Given the description of an element on the screen output the (x, y) to click on. 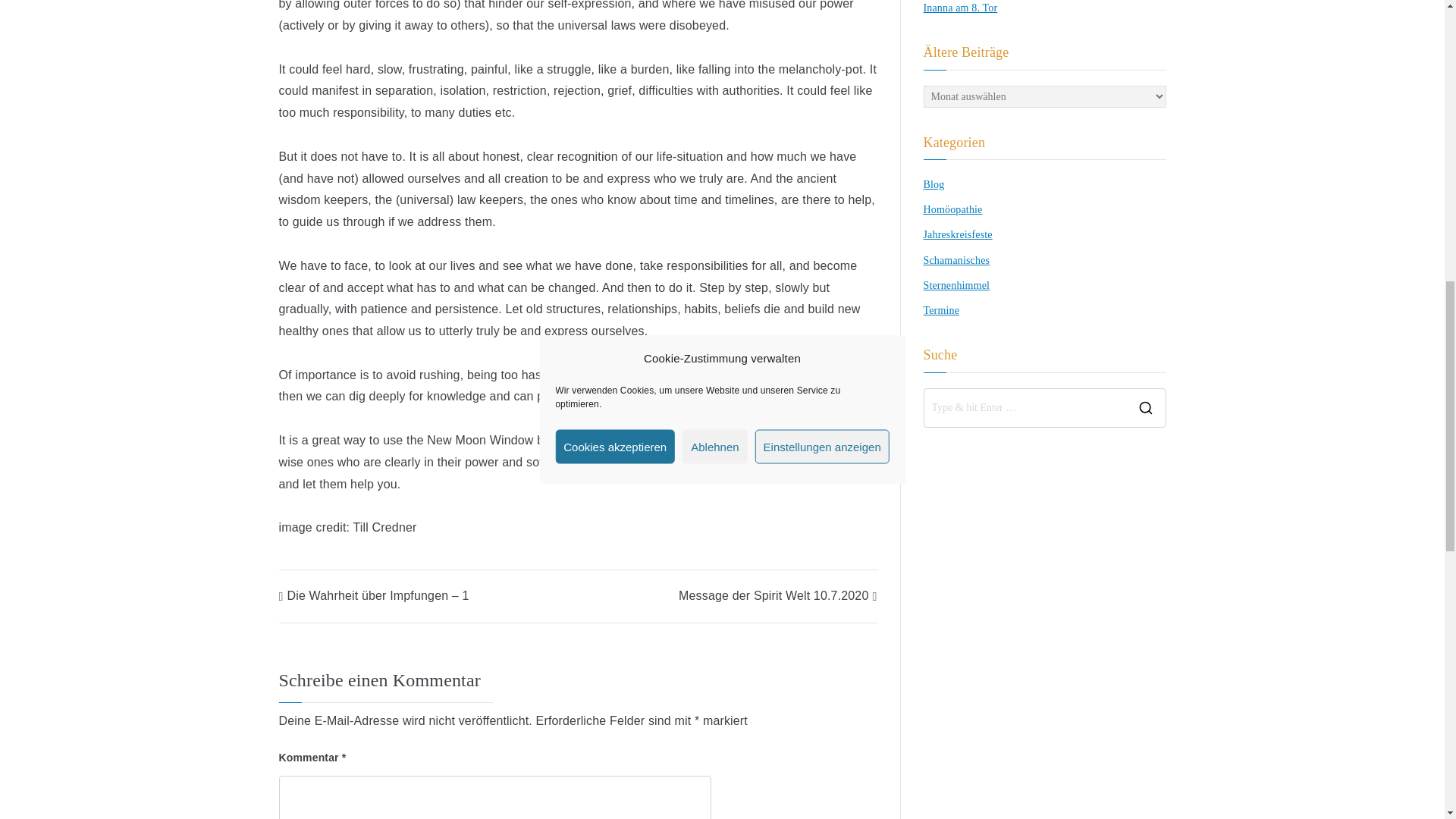
Search for: (1024, 407)
